Given the description of an element on the screen output the (x, y) to click on. 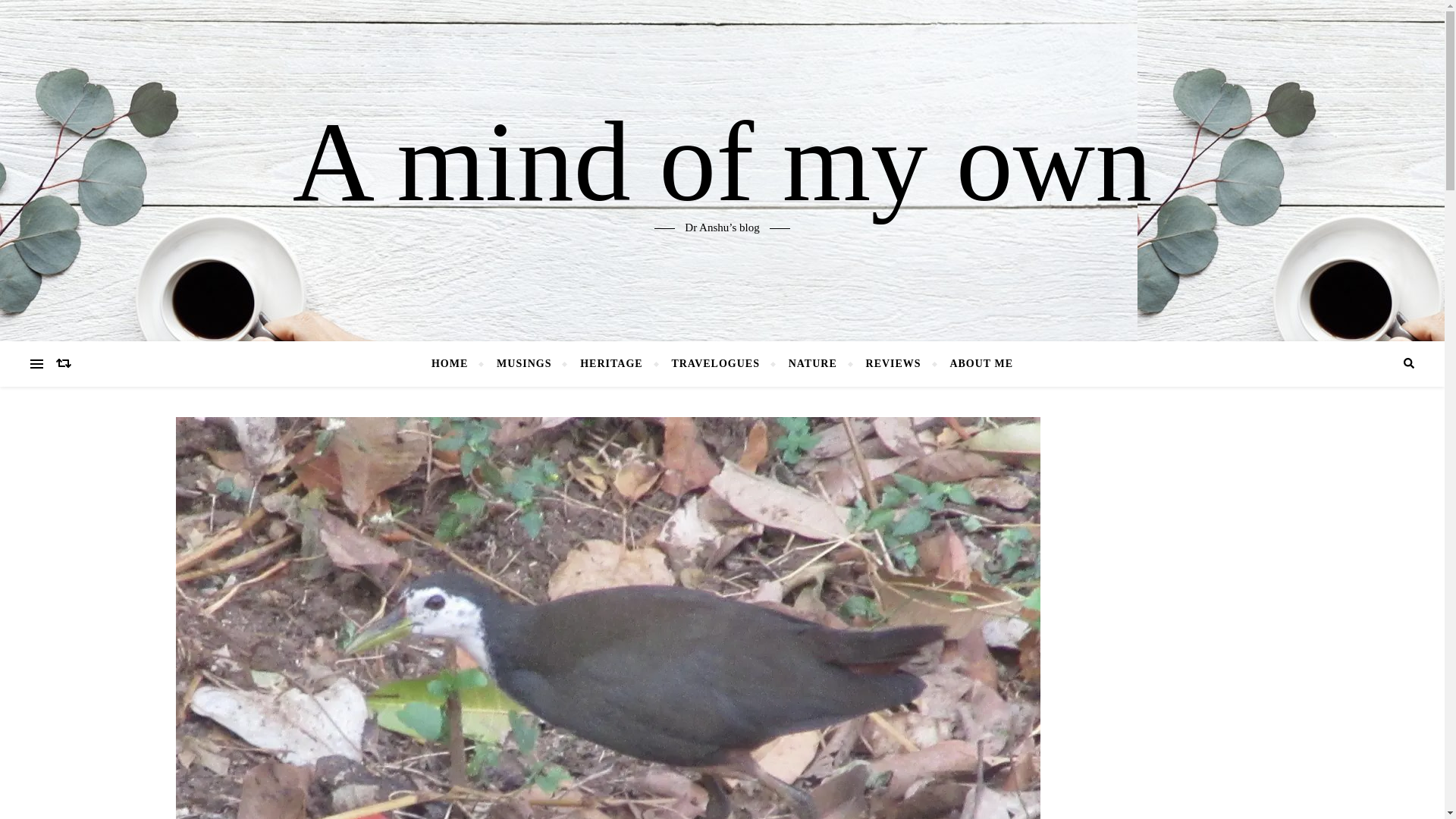
ABOUT ME (974, 363)
HERITAGE (611, 363)
MUSINGS (523, 363)
REVIEWS (893, 363)
NATURE (813, 363)
TRAVELOGUES (715, 363)
HOME (455, 363)
